Given the description of an element on the screen output the (x, y) to click on. 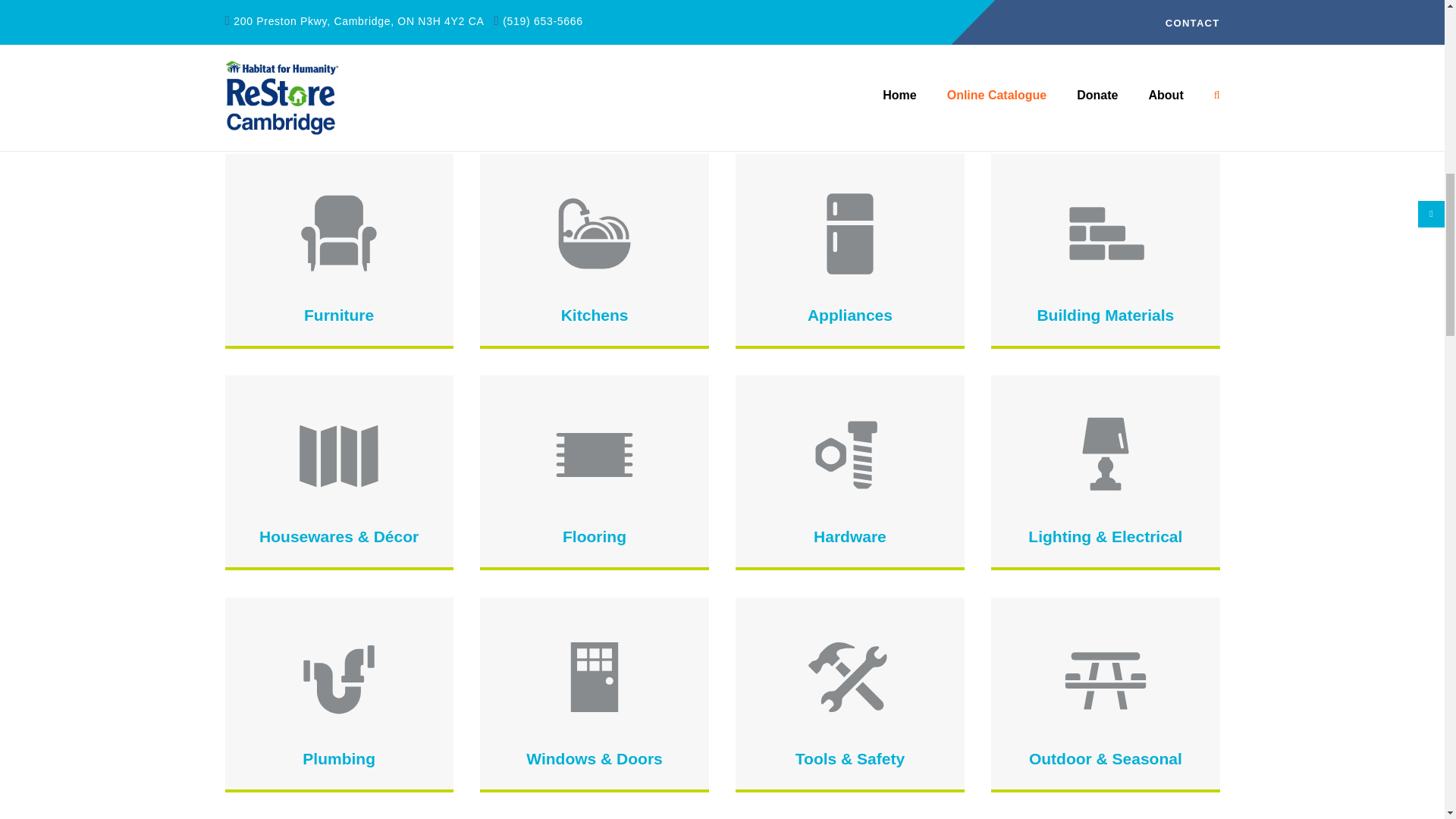
Building Materials (1104, 314)
Appliances (850, 314)
Flooring (594, 536)
Kitchens (594, 314)
Furniture (339, 314)
